Given the description of an element on the screen output the (x, y) to click on. 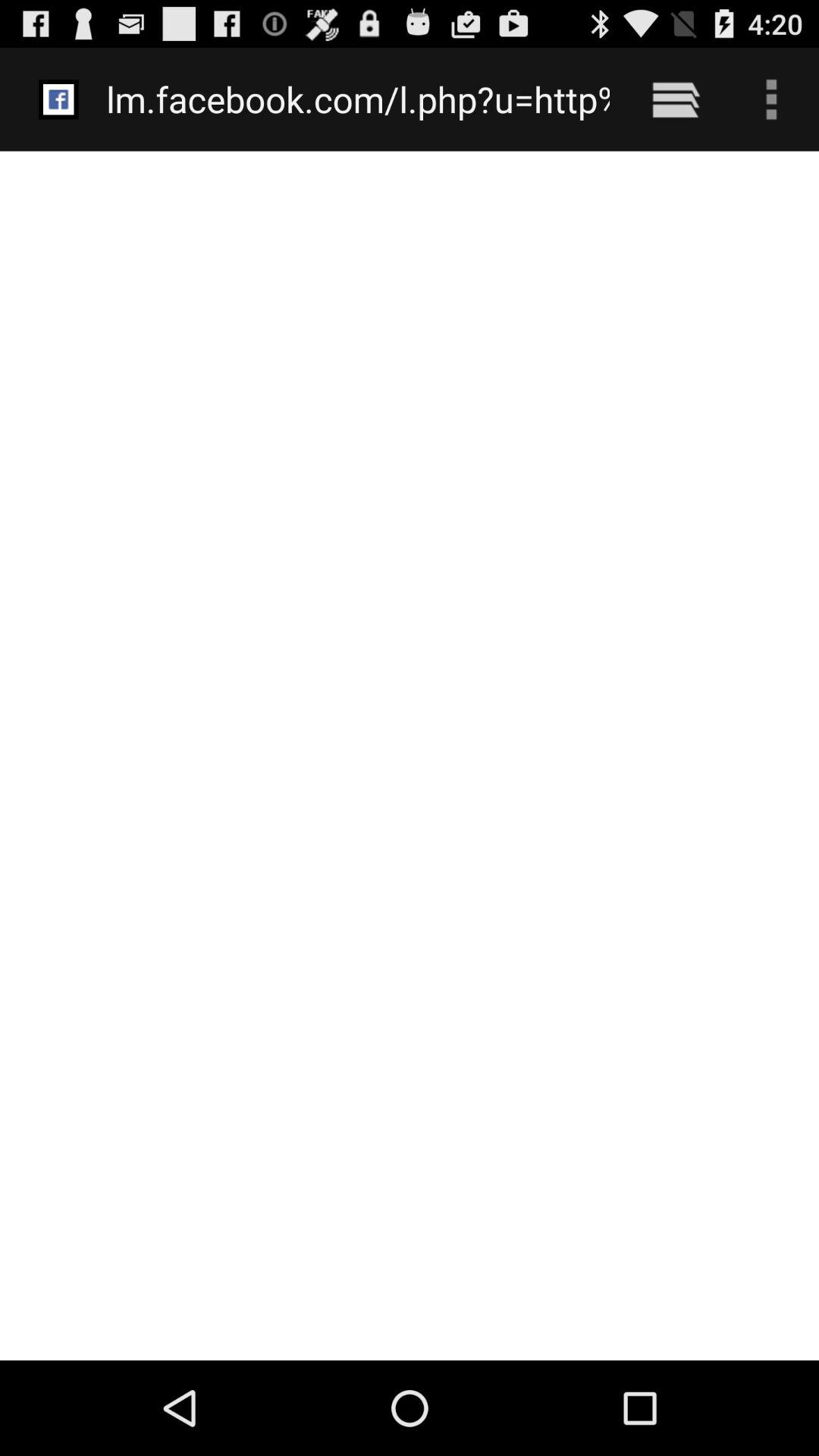
click the item to the right of lm facebook com item (675, 99)
